Given the description of an element on the screen output the (x, y) to click on. 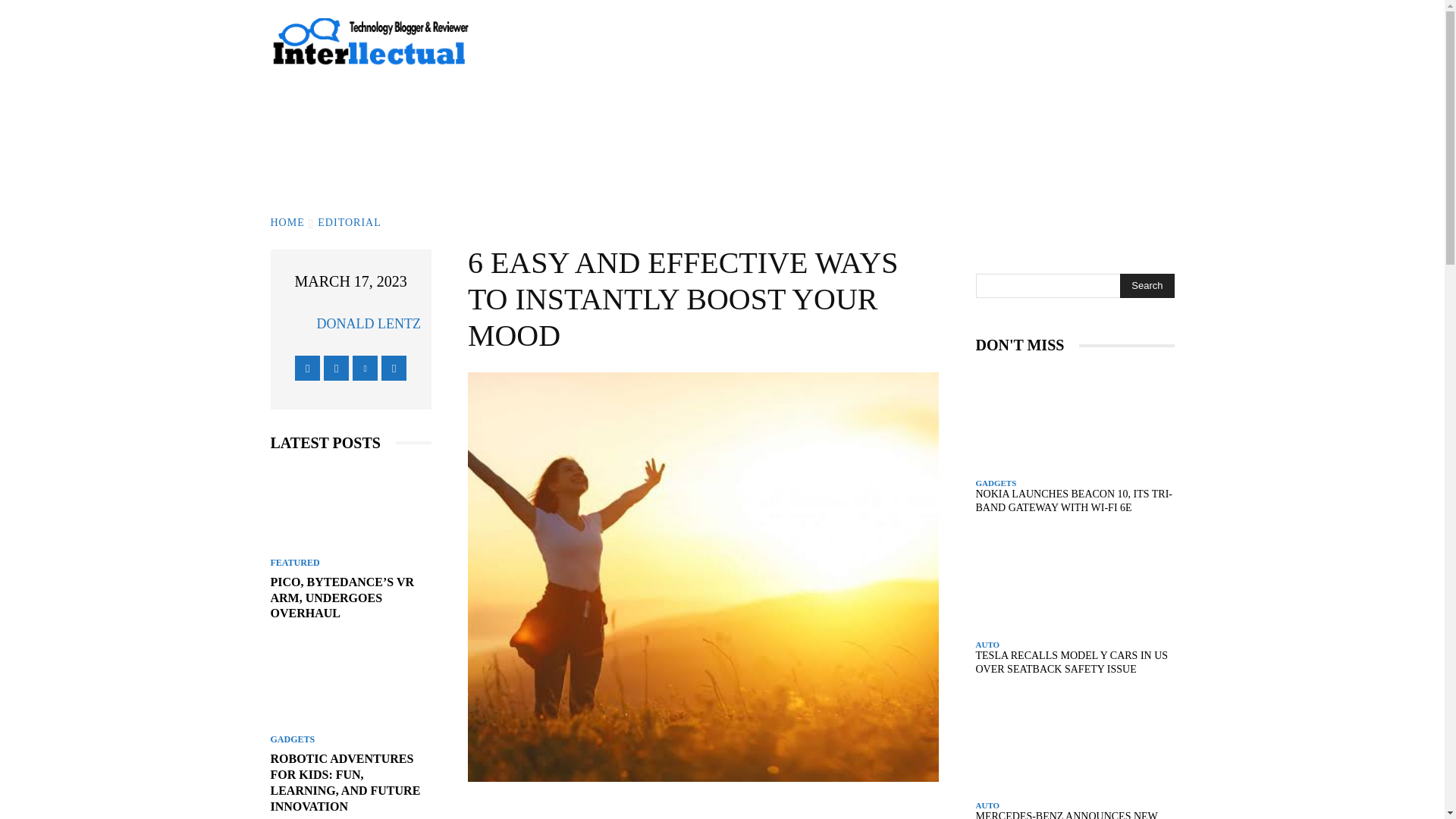
DONALD LENTZ (367, 323)
View all posts in Editorial (348, 222)
Youtube (393, 367)
Instagram (336, 367)
Facebook (307, 367)
Donald Lentz (296, 323)
EDITORIAL (348, 222)
HOME (286, 222)
Twitter (364, 367)
